Given the description of an element on the screen output the (x, y) to click on. 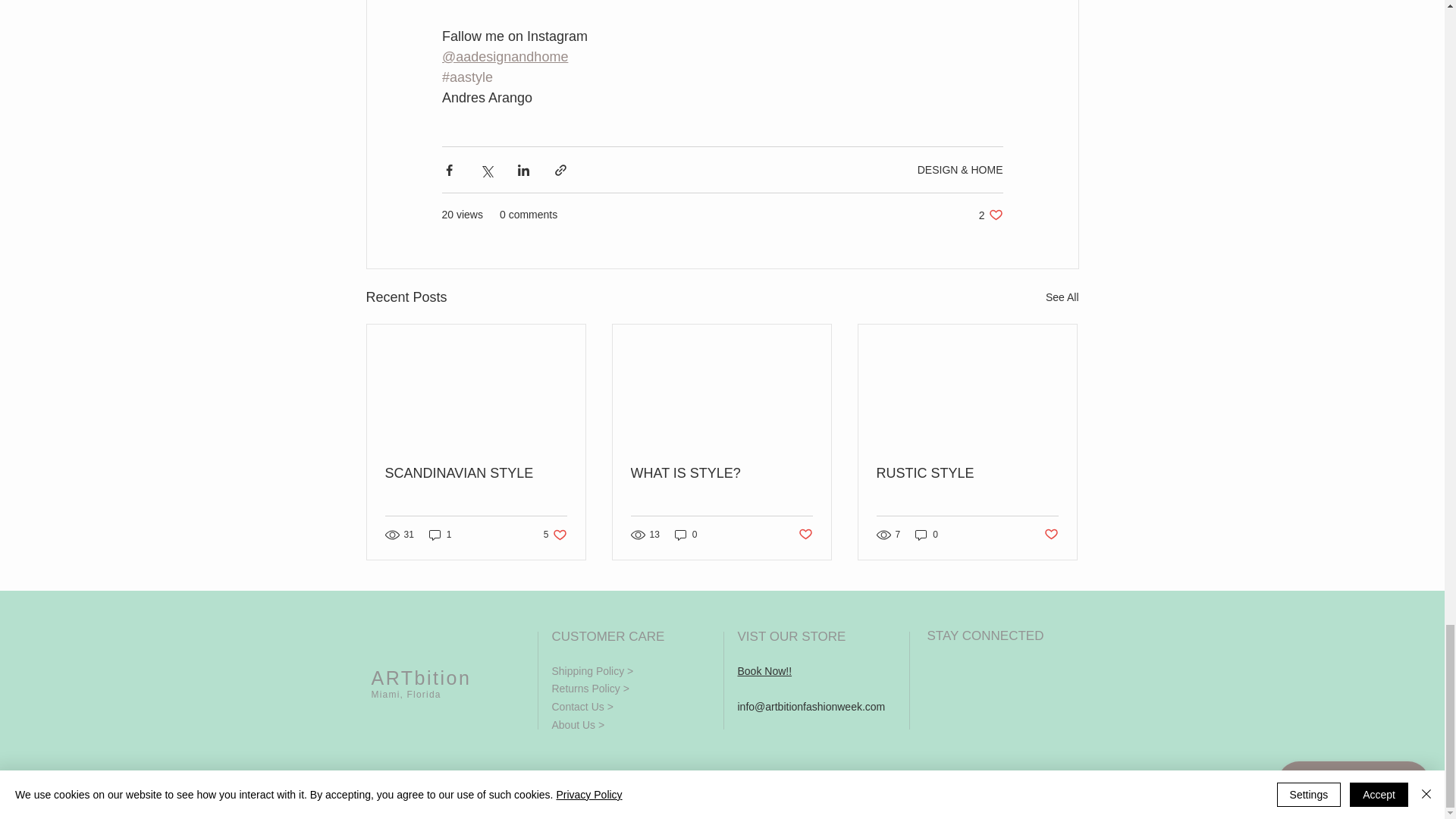
See All (1061, 297)
1 (440, 534)
SCANDINAVIAN STYLE (555, 534)
